Given the description of an element on the screen output the (x, y) to click on. 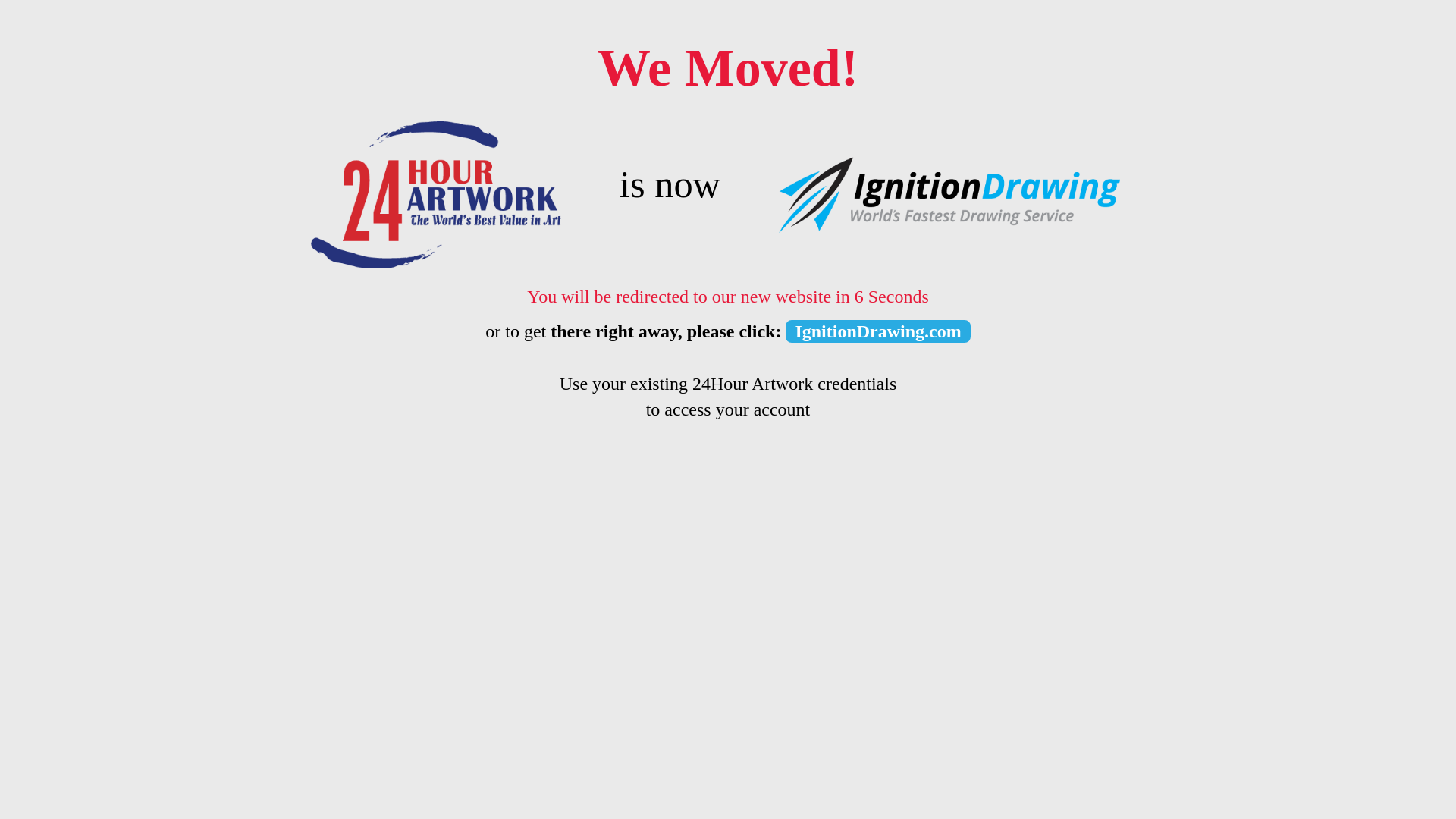
IgnitionDrawing.com Element type: text (877, 331)
